Given the description of an element on the screen output the (x, y) to click on. 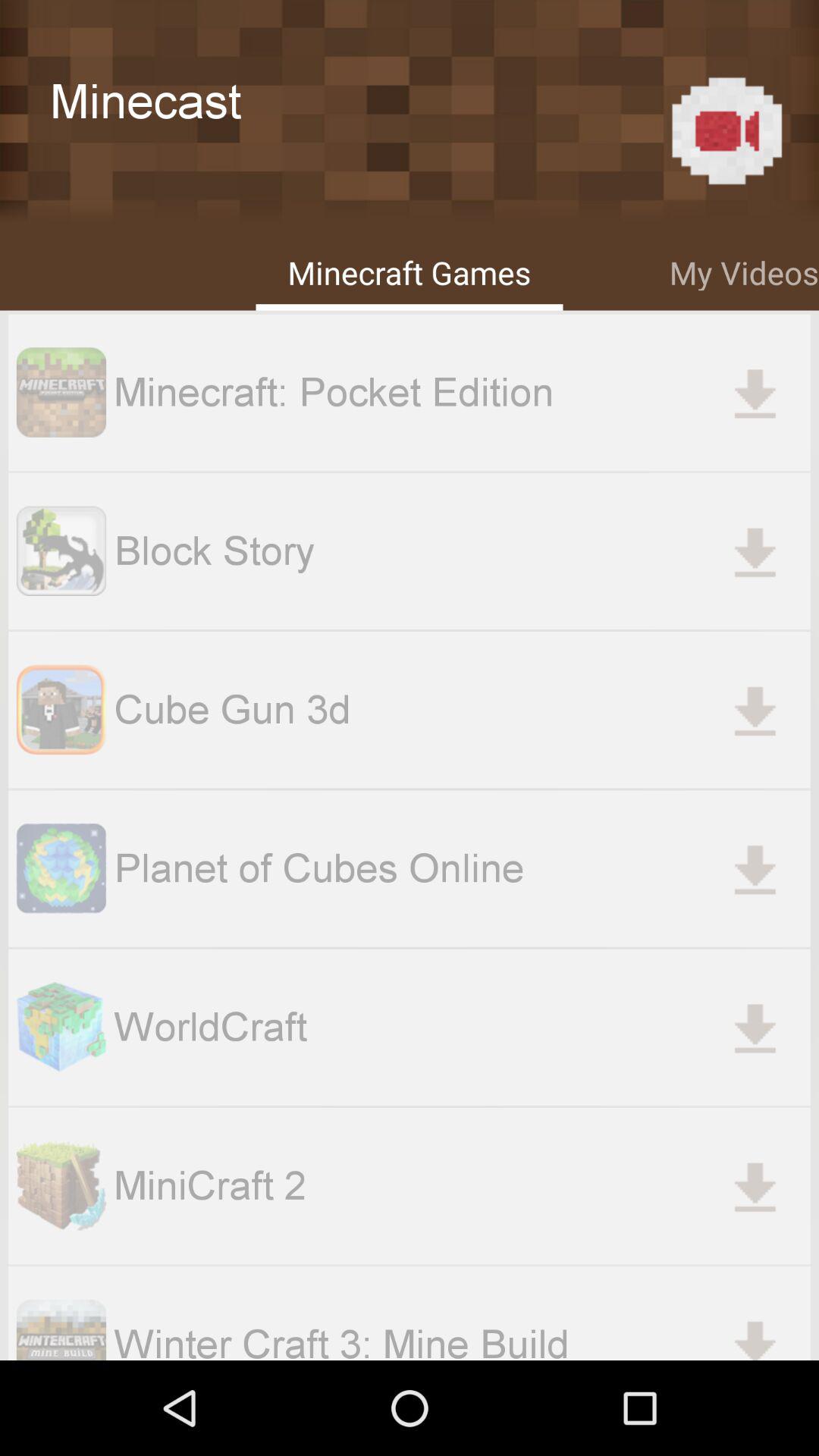
scroll to planet of cubes (462, 868)
